Given the description of an element on the screen output the (x, y) to click on. 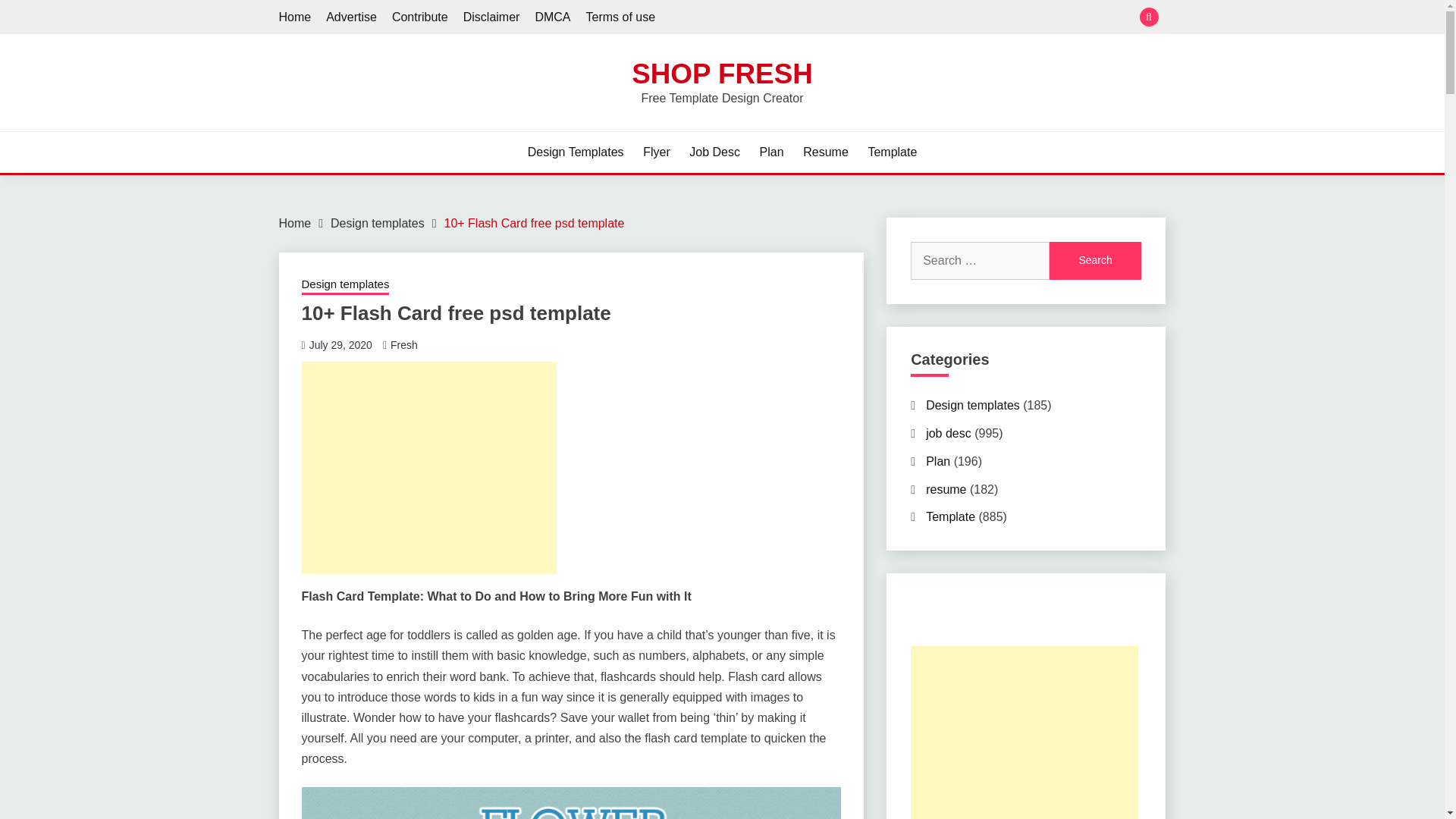
Terms of use (620, 16)
Home (295, 16)
Search (1095, 260)
July 29, 2020 (340, 345)
SHOP FRESH (721, 73)
Plan (772, 152)
Design templates (345, 285)
DMCA (552, 16)
Advertise (351, 16)
Fresh (403, 345)
Search (1095, 260)
Contribute (419, 16)
Home (295, 223)
Flyer (656, 152)
Template (892, 152)
